Given the description of an element on the screen output the (x, y) to click on. 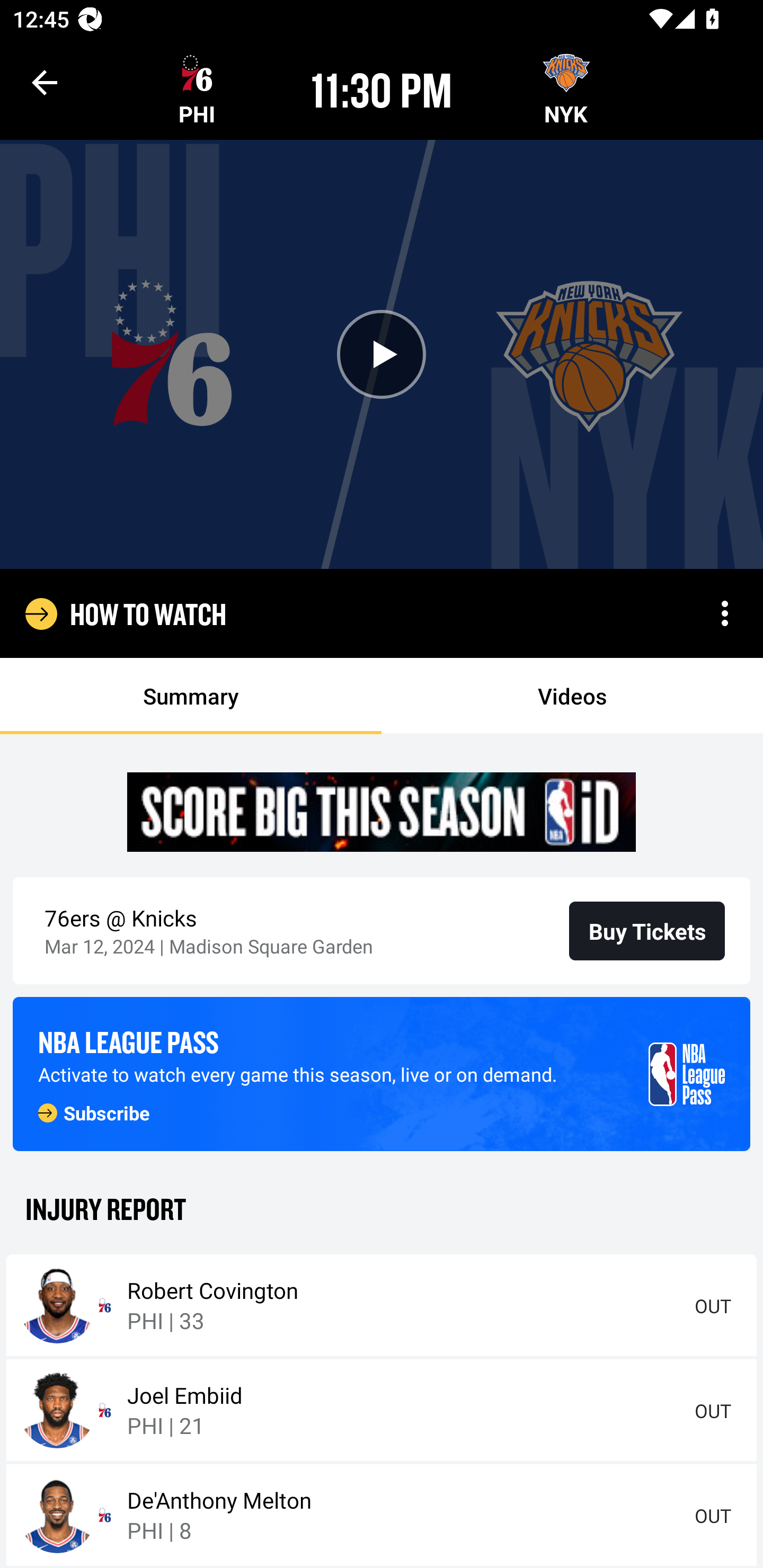
Navigate up (44, 82)
More options (724, 613)
HOW TO WATCH (148, 613)
Videos (572, 695)
Buy Tickets (646, 930)
INJURY REPORT (381, 1207)
Robert Covington PHI | 33 OUT (381, 1305)
Joel Embiid PHI | 21 OUT (381, 1410)
De'Anthony Melton PHI | 8 OUT (381, 1515)
